Given the description of an element on the screen output the (x, y) to click on. 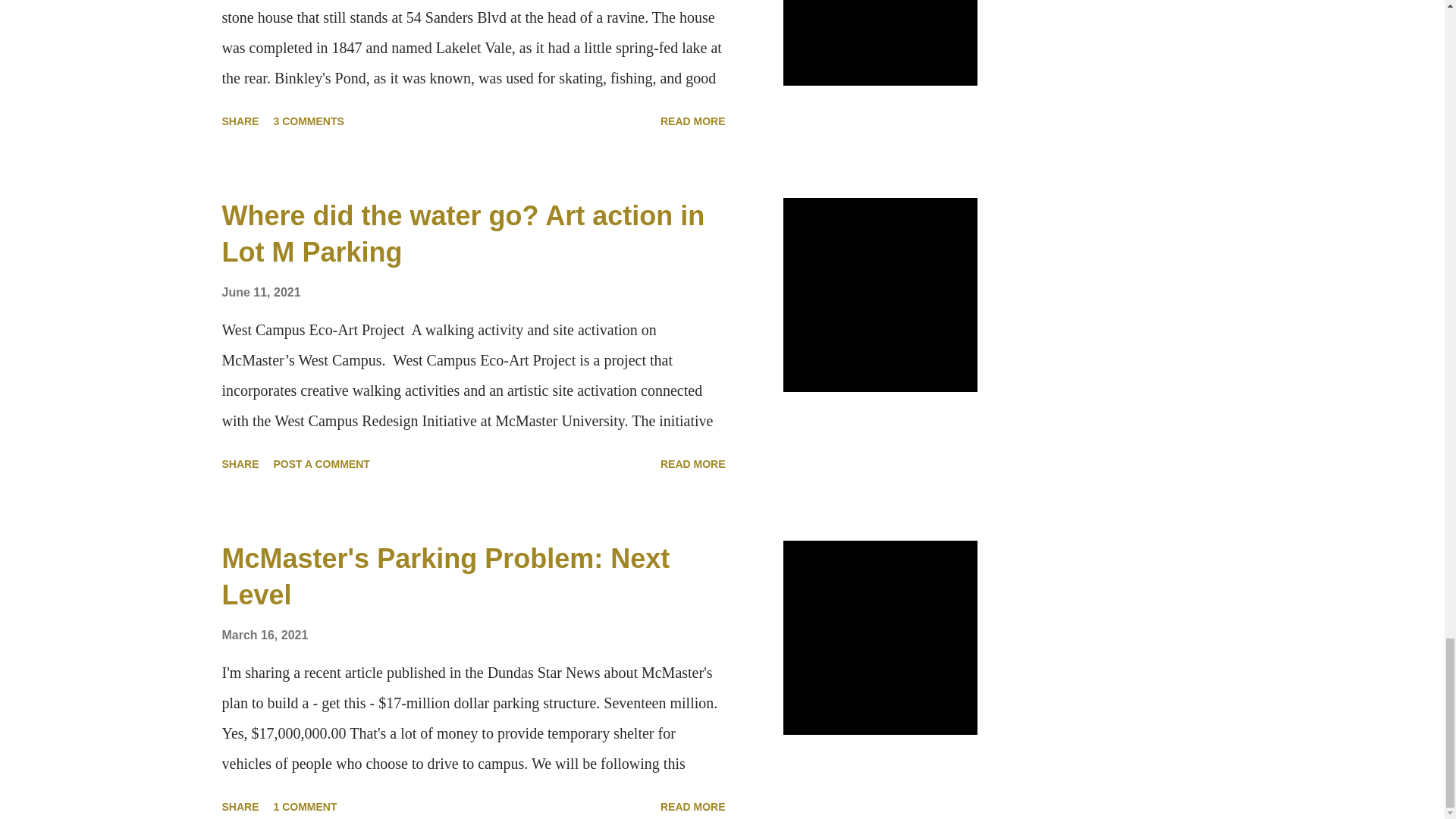
Where did the water go? Art action in Lot M Parking (462, 233)
March 16, 2021 (264, 634)
READ MORE (692, 120)
June 11, 2021 (260, 291)
McMaster's Parking Problem: Next Level (445, 576)
3 COMMENTS (308, 120)
READ MORE (692, 463)
POST A COMMENT (321, 463)
SHARE (239, 463)
SHARE (239, 120)
